Given the description of an element on the screen output the (x, y) to click on. 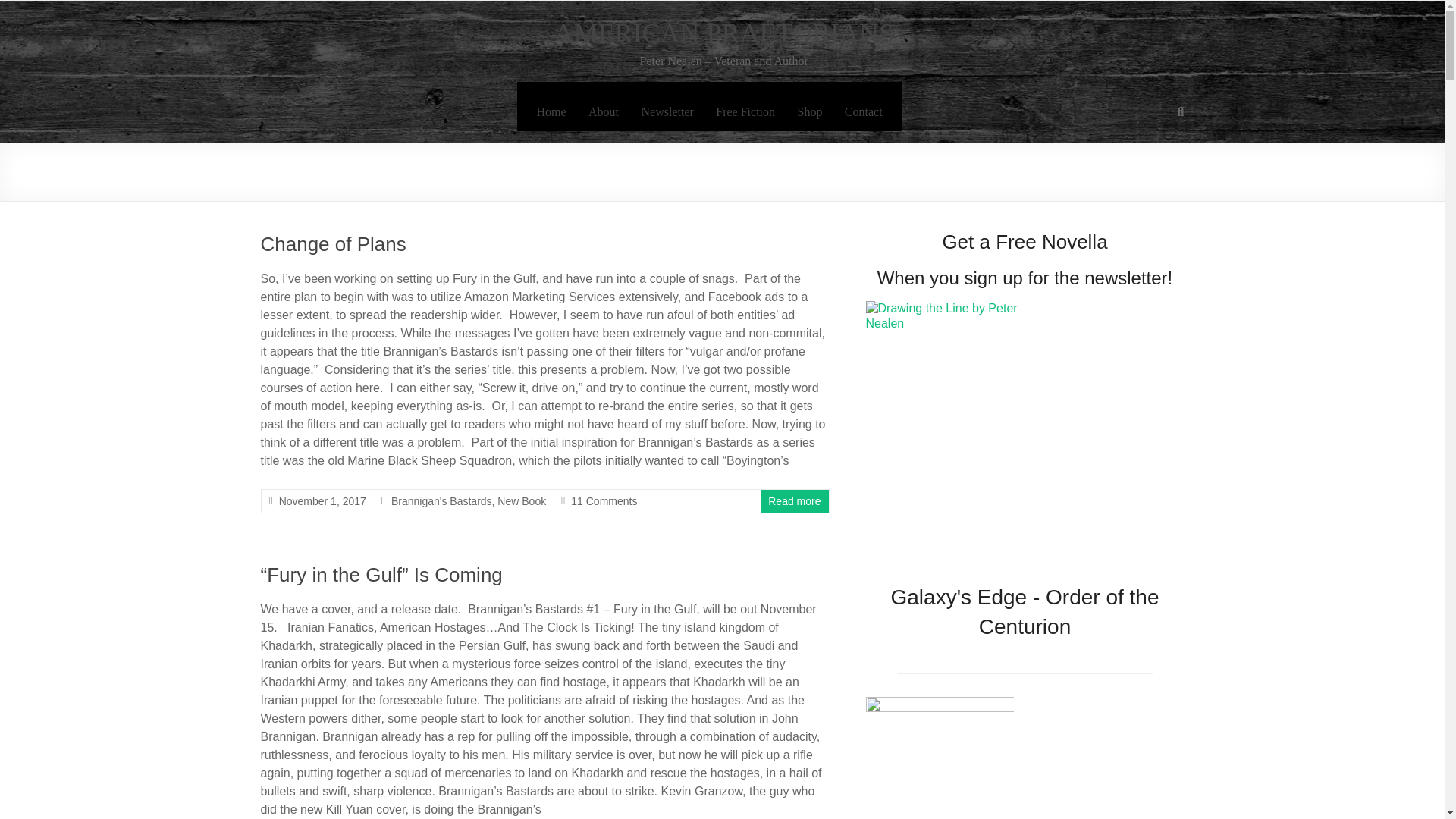
AMERICAN PRAETORIANS (723, 33)
November 1, 2017 (322, 500)
Change of Plans (333, 243)
Brannigan's Bastards (441, 500)
AMERICAN PRAETORIANS (723, 33)
About (603, 111)
Free Fiction (745, 111)
New Book (521, 500)
10:44 am (322, 500)
Read more (794, 500)
